Given the description of an element on the screen output the (x, y) to click on. 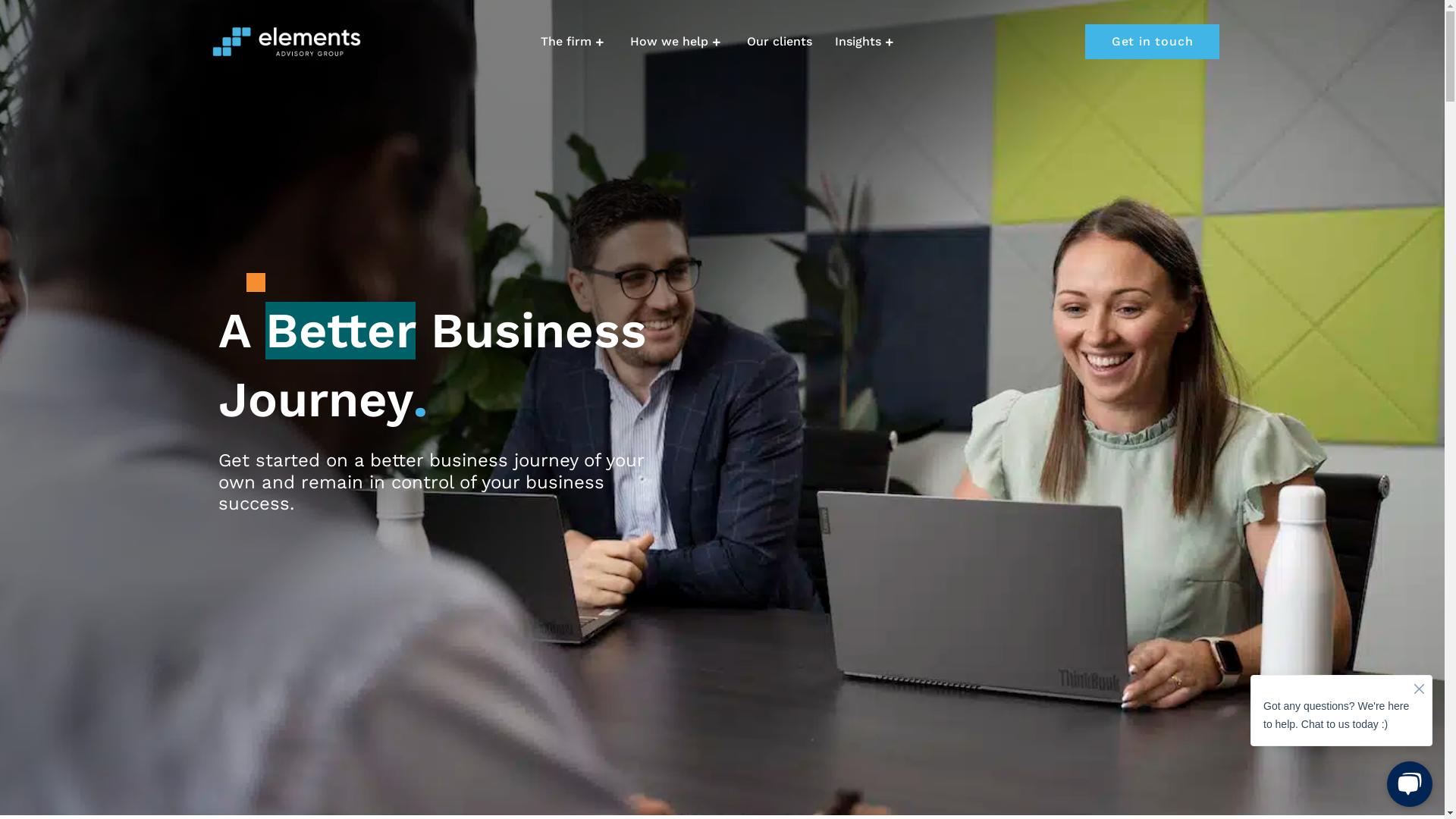
The firm Element type: text (573, 41)
How we help Element type: text (676, 41)
Get in touch Element type: text (1152, 41)
Our clients Element type: text (779, 41)
Insights Element type: text (865, 41)
